Given the description of an element on the screen output the (x, y) to click on. 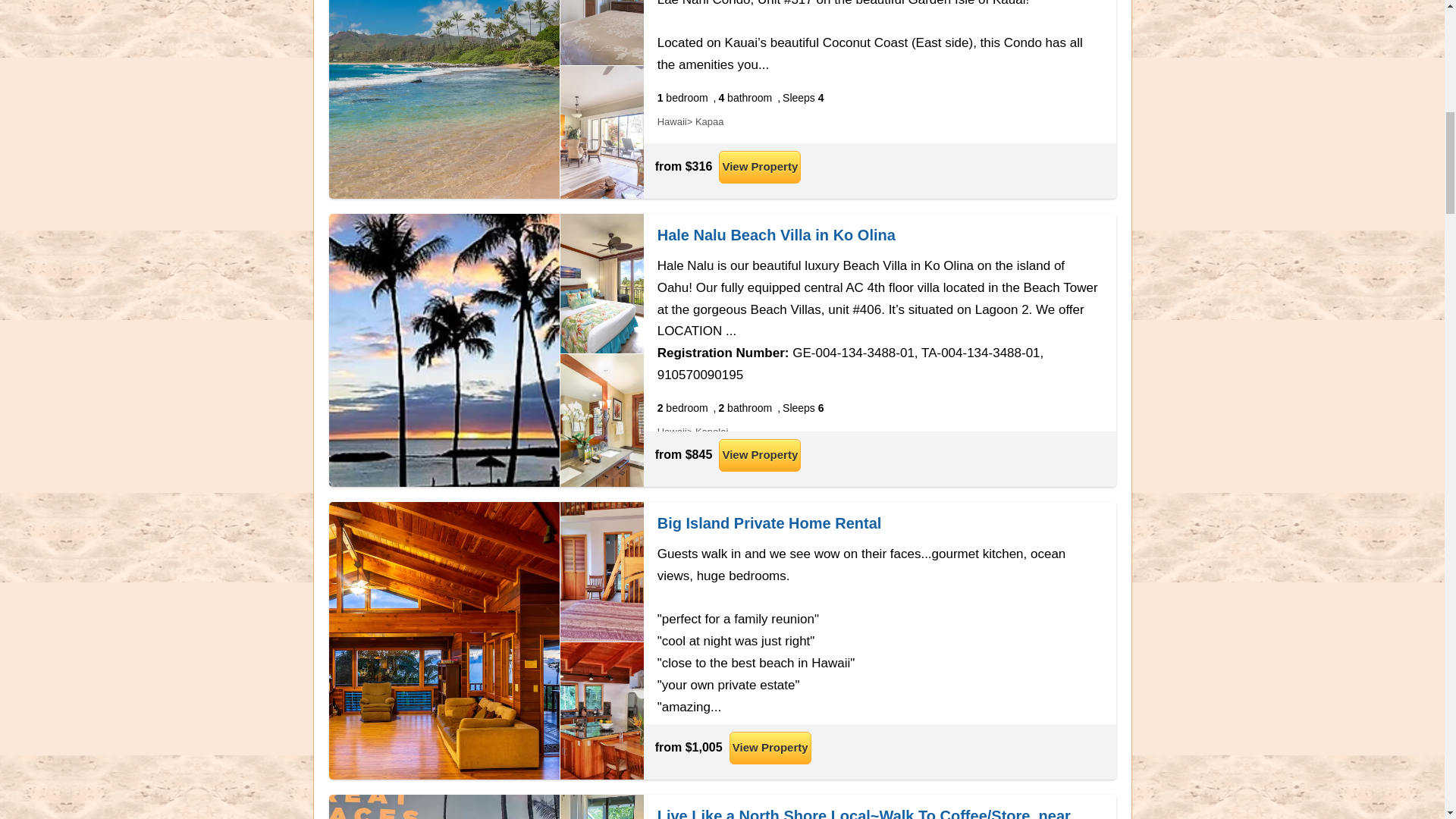
View Property (759, 454)
View Property (769, 748)
Hale Nalu Beach Villa in Ko Olina  (776, 234)
View Property (759, 166)
Big Island Private Home Rental (770, 523)
Hale Nalu Beach Villa in Ko Olina (776, 234)
Big Island Private Home Rental (770, 523)
